Given the description of an element on the screen output the (x, y) to click on. 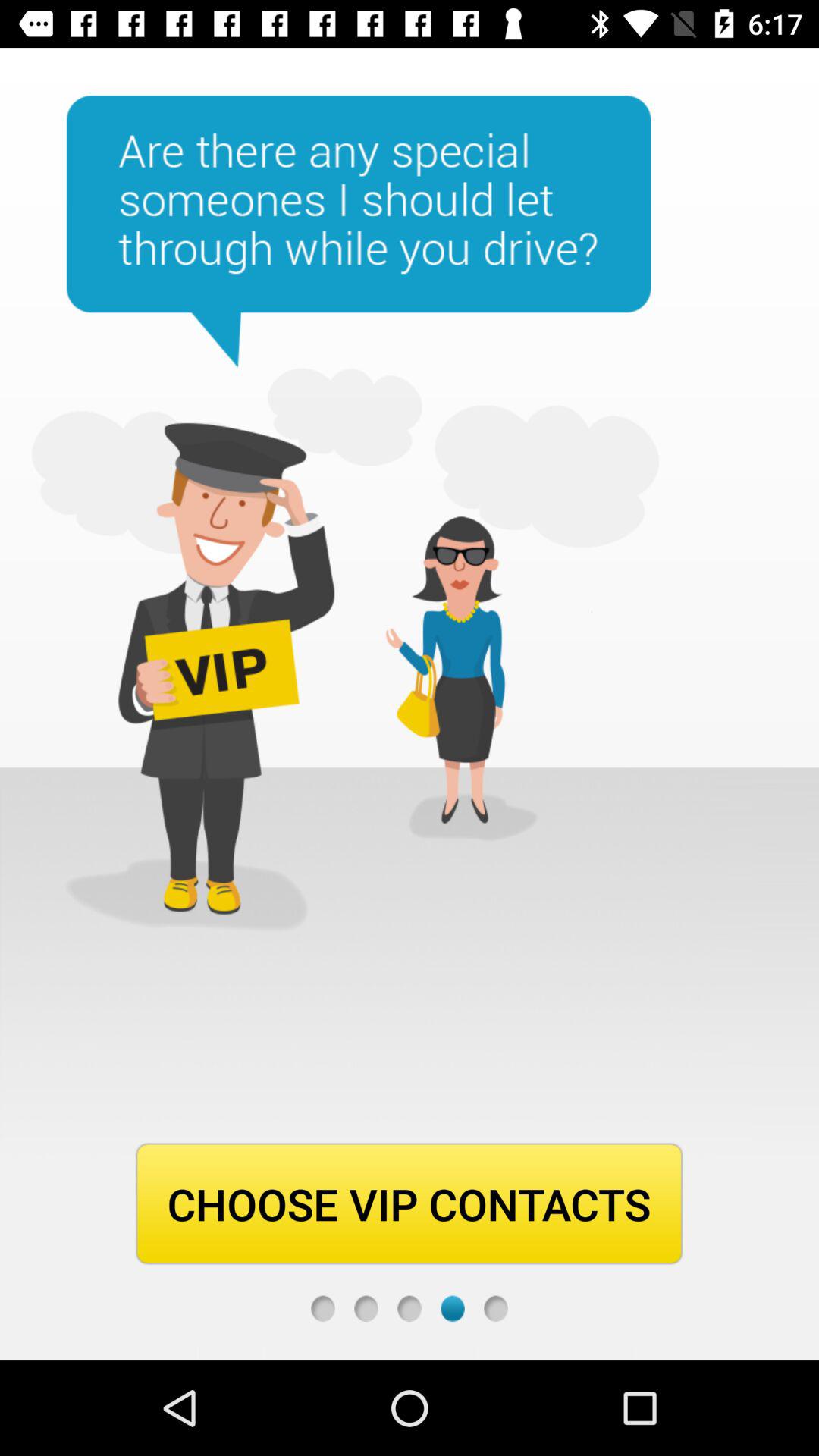
swipe to see next option (366, 1308)
